Given the description of an element on the screen output the (x, y) to click on. 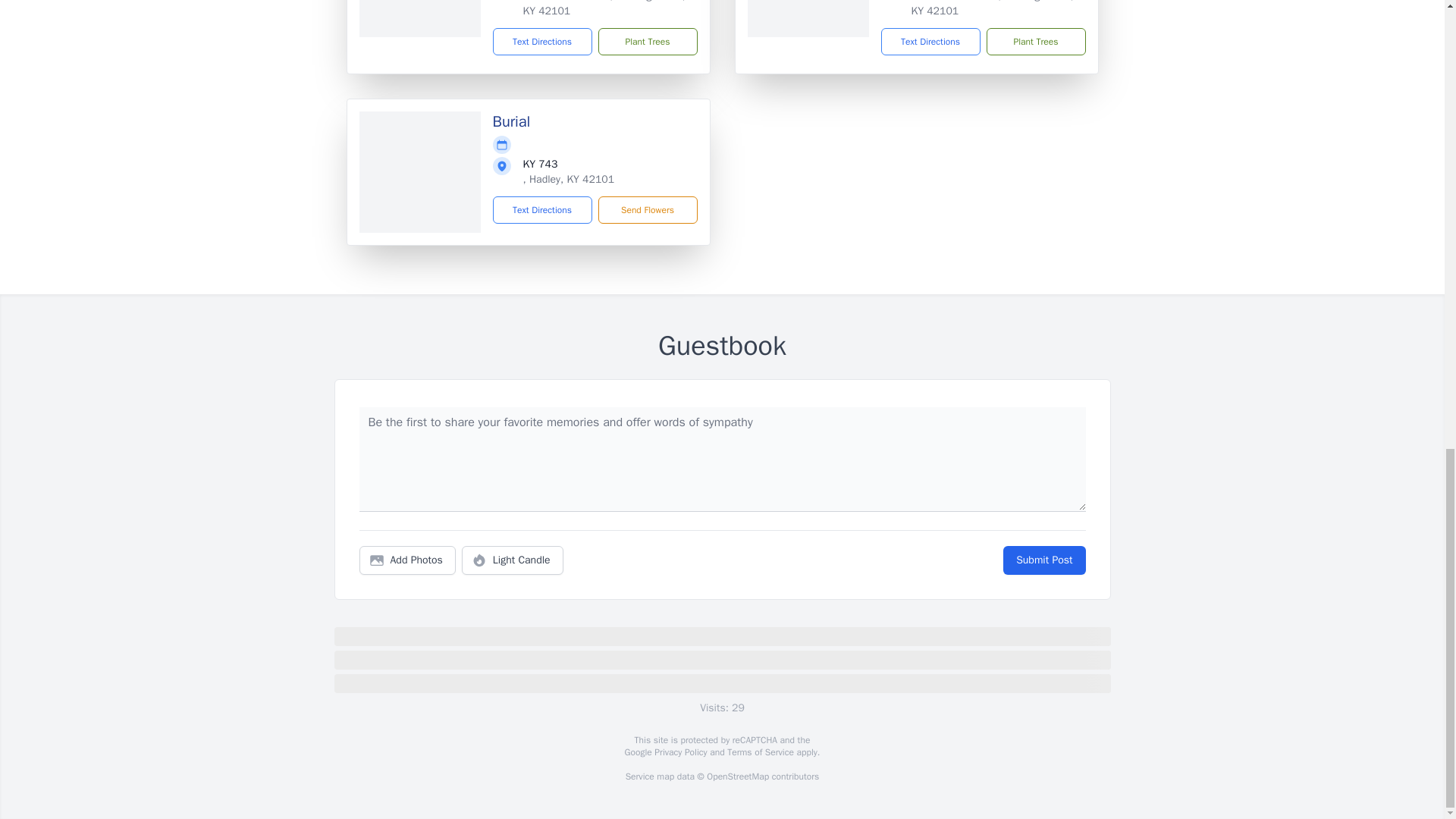
Add Photos (407, 560)
Send Flowers (646, 209)
Text Directions (542, 41)
Text Directions (542, 209)
Light Candle (512, 560)
Text Directions (929, 41)
Plant Trees (1034, 41)
3098 Louisville Rd, Bowling Green, KY 42101 (603, 8)
, Hadley, KY 42101 (568, 178)
Submit Post (1043, 560)
